Given the description of an element on the screen output the (x, y) to click on. 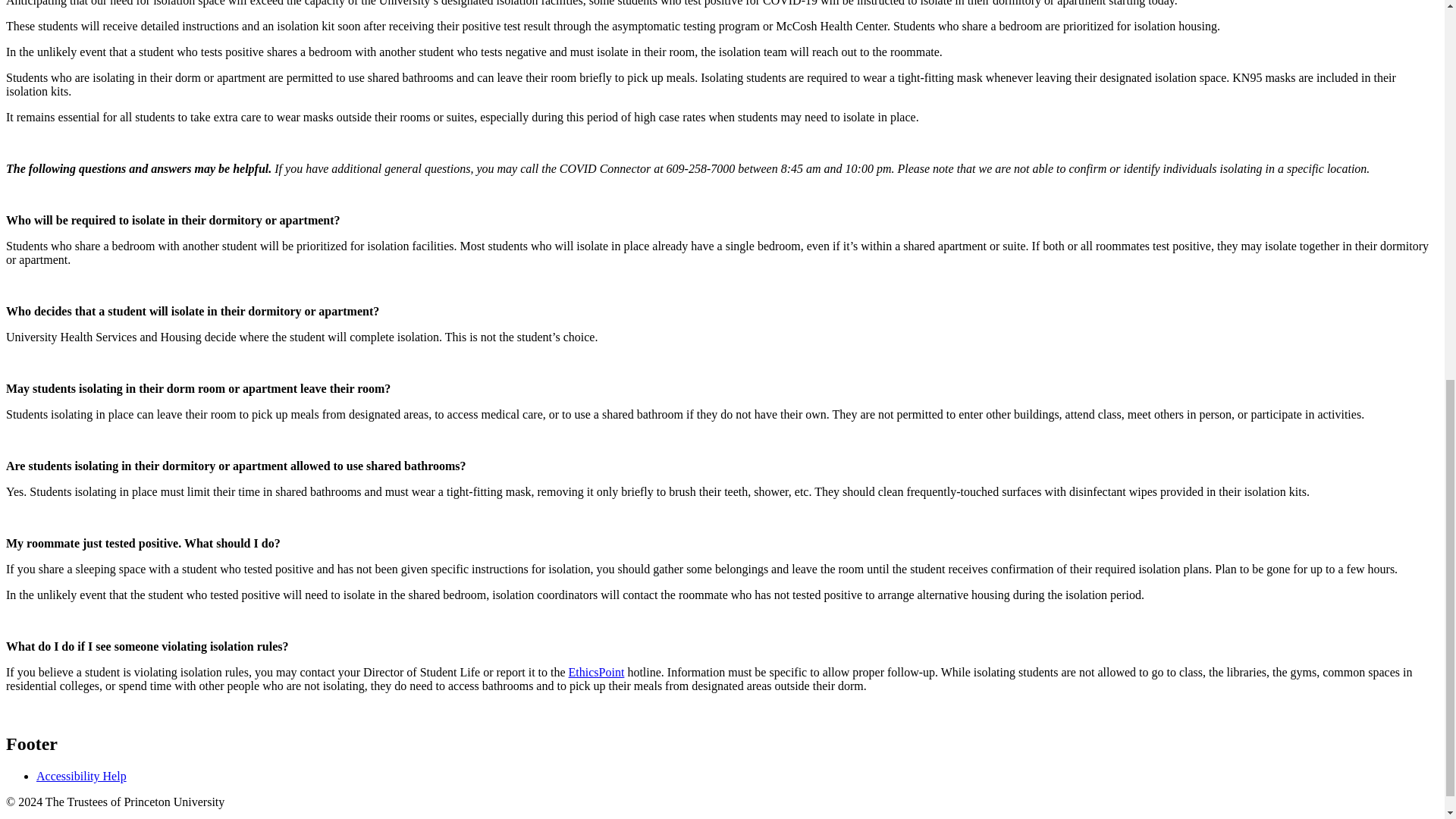
Accessibility Help (81, 775)
EthicsPoint (596, 671)
